Given the description of an element on the screen output the (x, y) to click on. 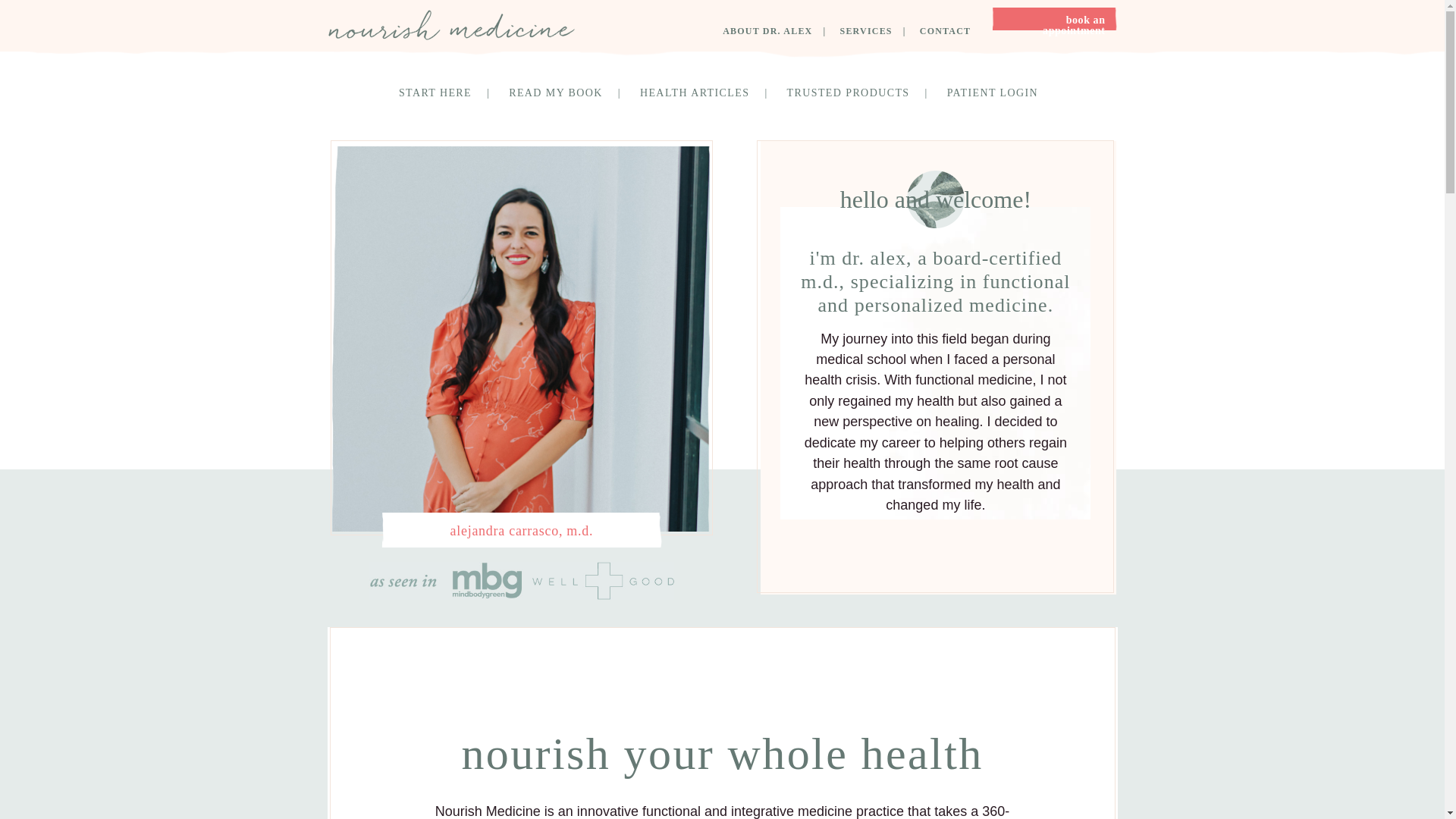
PATIENT LOGIN (996, 92)
READ MY BOOK (572, 92)
ABOUT DR. ALEX (778, 31)
START HERE (451, 92)
HEALTH ARTICLES (711, 92)
TRUSTED PRODUCTS (865, 92)
Nourish Medicine (450, 24)
SERVICES (878, 31)
book an appointment (1053, 23)
